Given the description of an element on the screen output the (x, y) to click on. 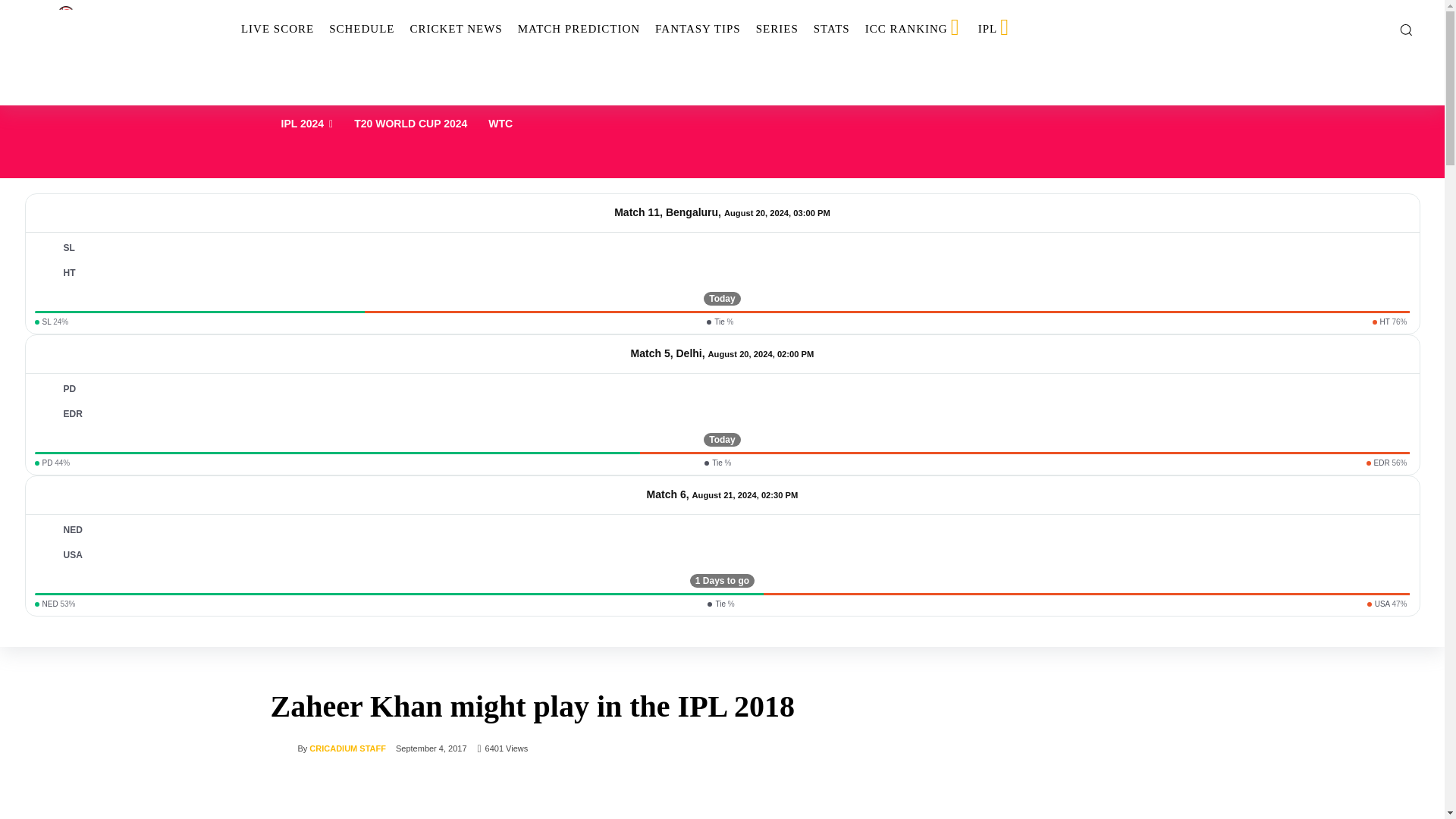
SERIES (777, 28)
LIVE SCORE (276, 28)
IPL (995, 28)
Cricadium (112, 28)
CRICKET NEWS (455, 28)
Cricadium Staff (283, 748)
MATCH PREDICTION (579, 28)
ICC RANKING (914, 28)
FANTASY TIPS (697, 28)
STATS (831, 28)
